Given the description of an element on the screen output the (x, y) to click on. 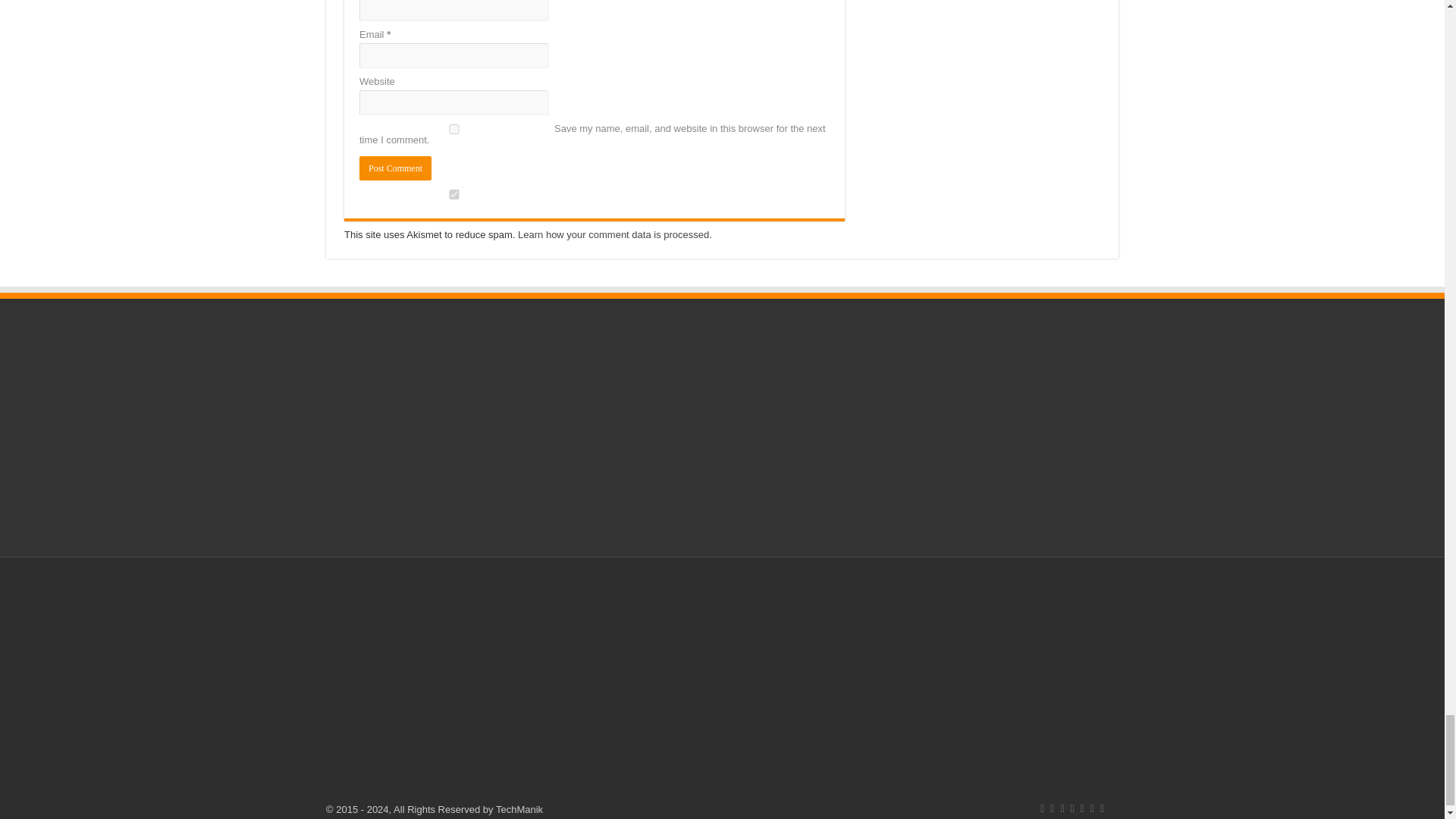
yes (453, 129)
Post Comment (394, 168)
on (453, 194)
